Given the description of an element on the screen output the (x, y) to click on. 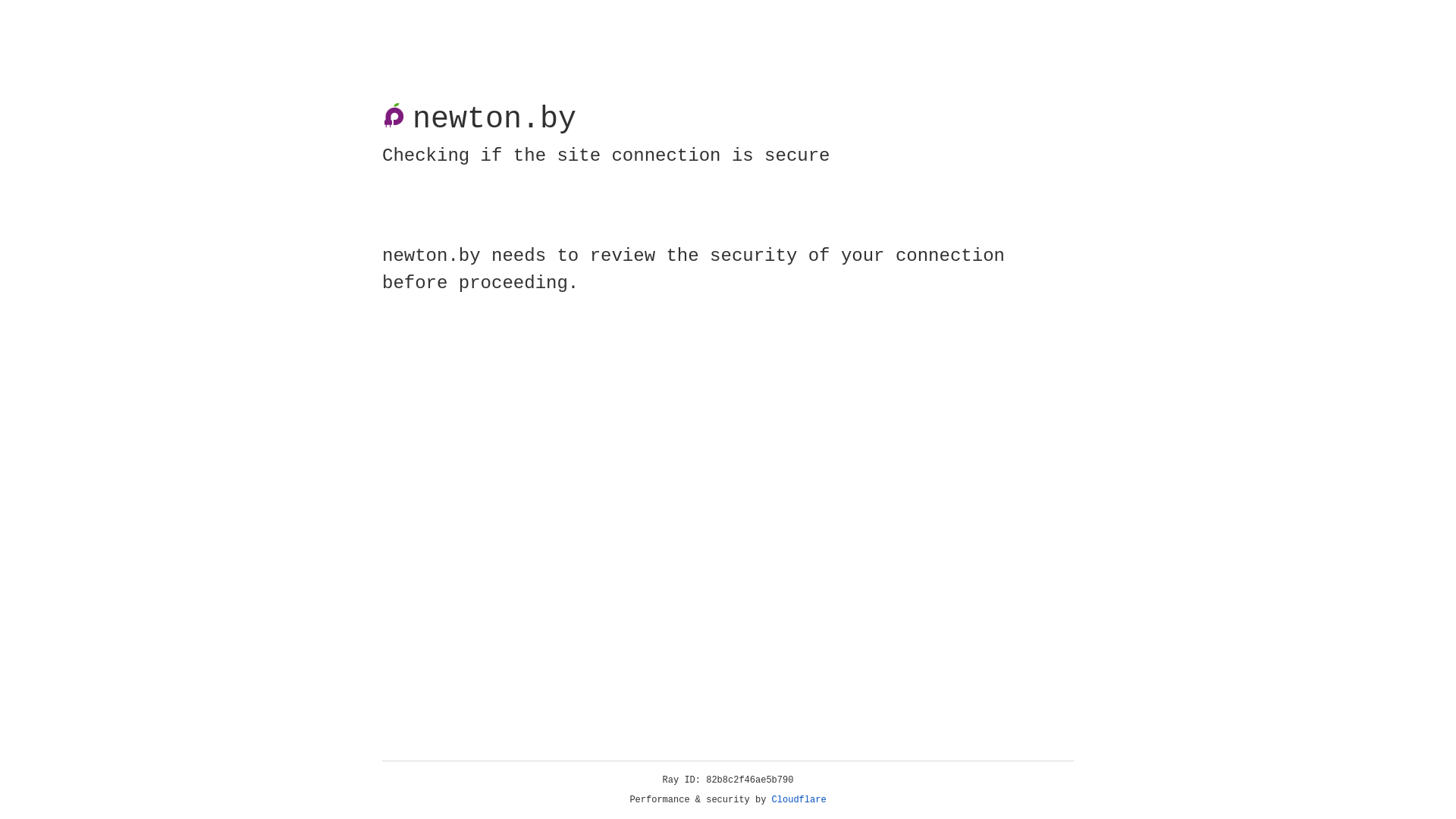
Cloudflare Element type: text (798, 799)
